Given the description of an element on the screen output the (x, y) to click on. 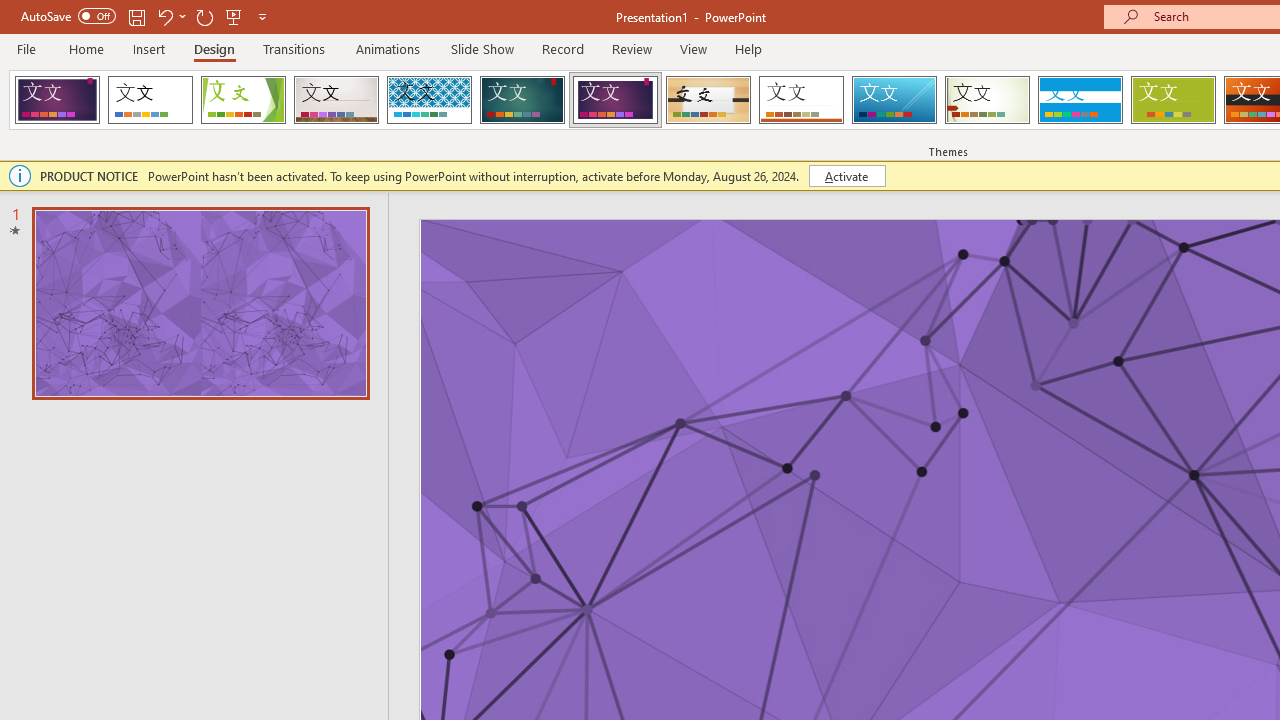
Gallery (336, 100)
Ion Boardroom (615, 100)
Ion (522, 100)
Banded (1080, 100)
Slice (893, 100)
Facet (243, 100)
Integral (429, 100)
